Given the description of an element on the screen output the (x, y) to click on. 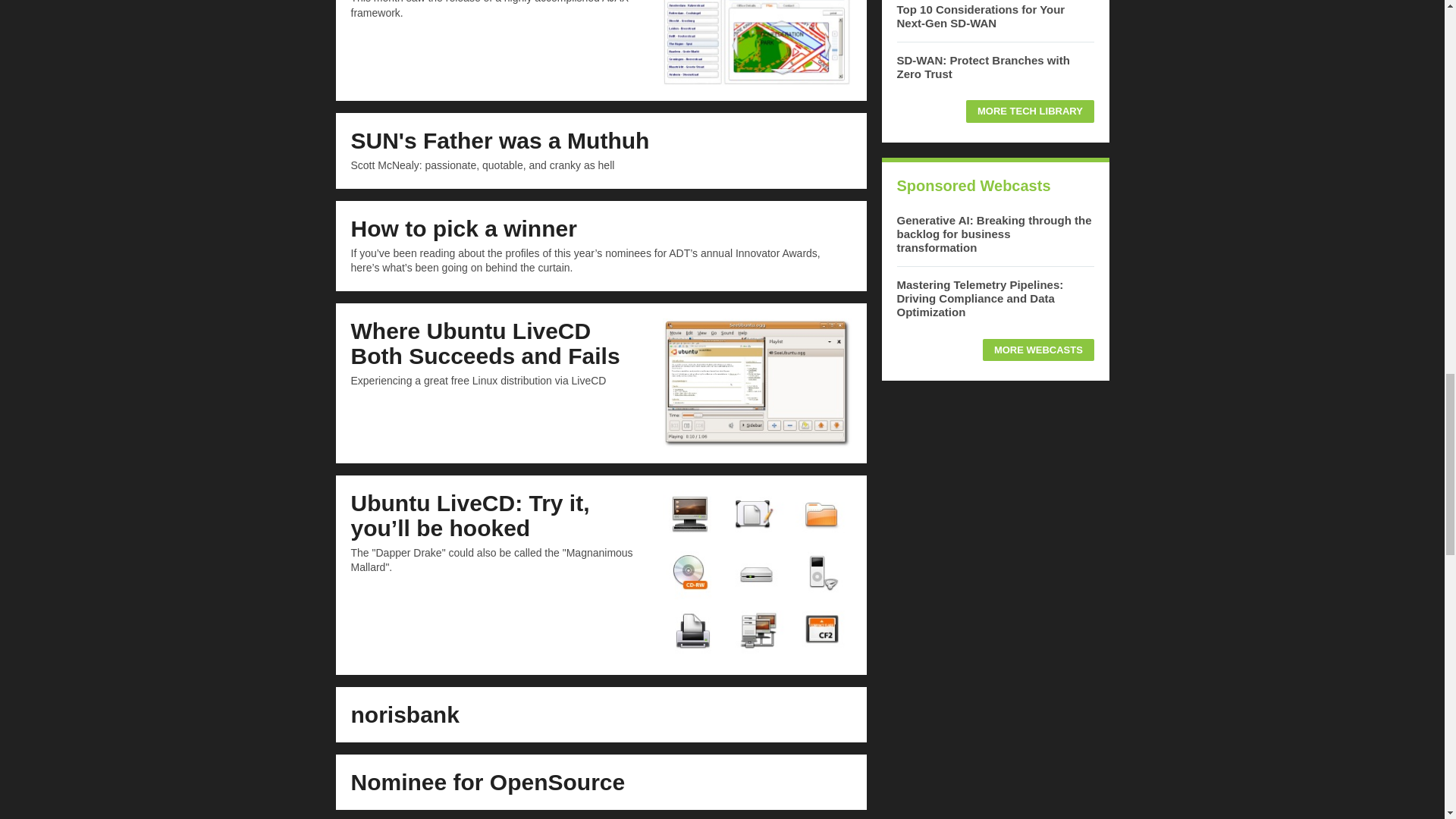
SUN's Father was a Muthuh (499, 140)
